Given the description of an element on the screen output the (x, y) to click on. 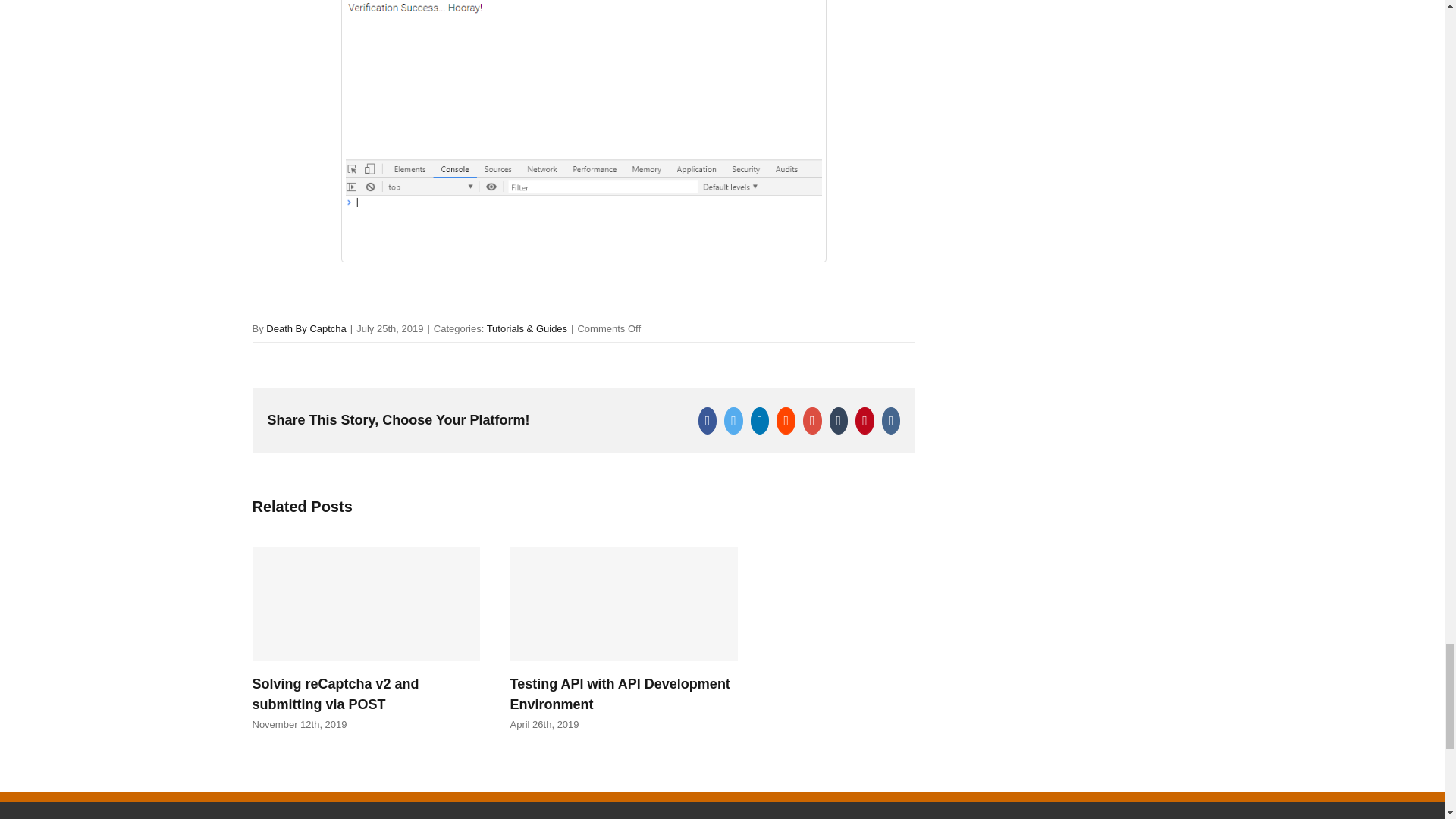
Posts by Death By Captcha (306, 328)
Death By Captcha (306, 328)
Testing API with API Development Environment (619, 693)
Solving reCaptcha v2 and submitting via POST (335, 693)
